Given the description of an element on the screen output the (x, y) to click on. 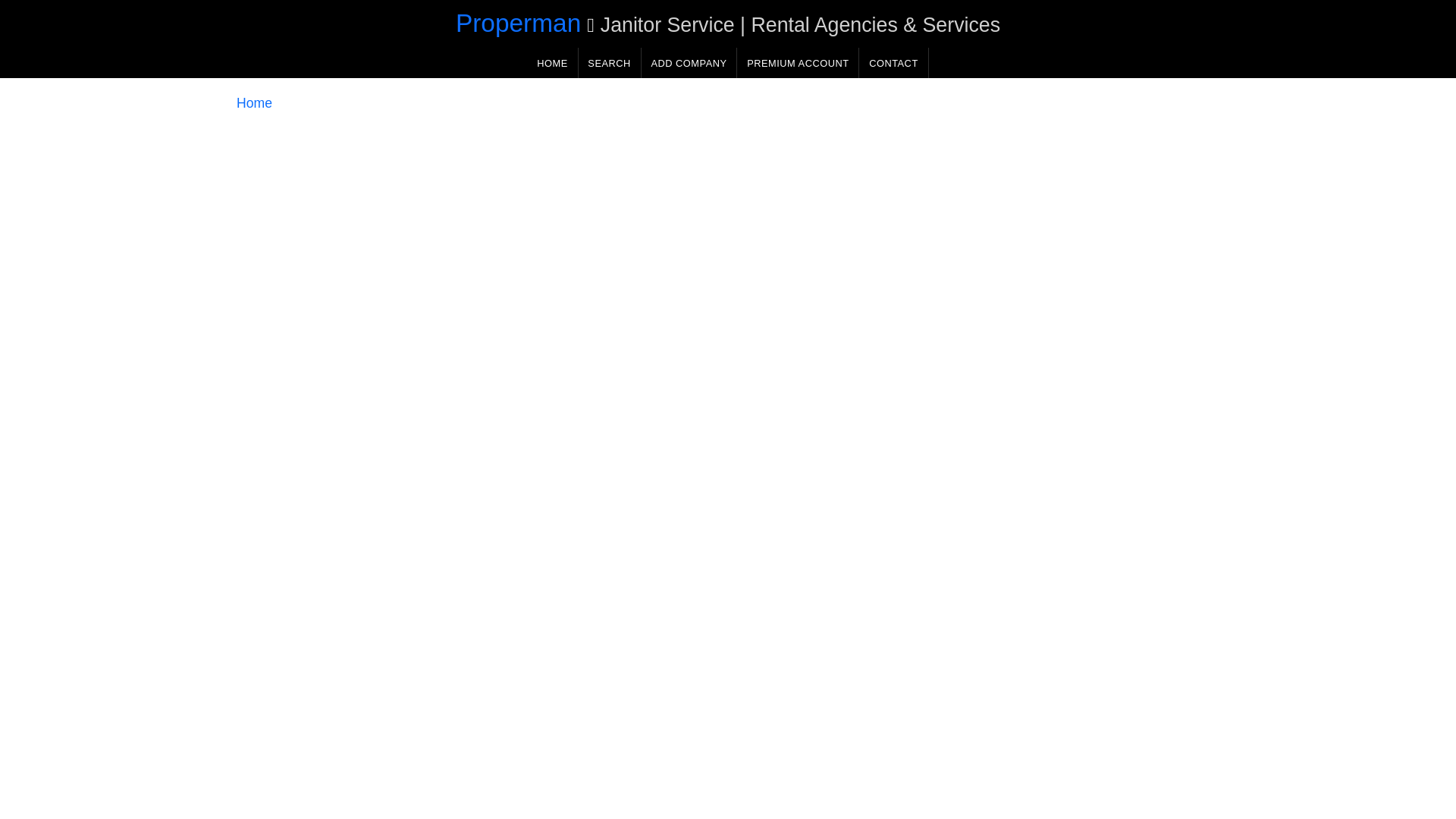
Properman (517, 22)
Add a new company (689, 62)
HOME (551, 62)
PREMIUM ACCOUNT (797, 62)
CONTACT (893, 62)
Home (253, 102)
ADD COMPANY (689, 62)
SEARCH (609, 62)
Premium account (797, 62)
Search in this webseite. (609, 62)
